Given the description of an element on the screen output the (x, y) to click on. 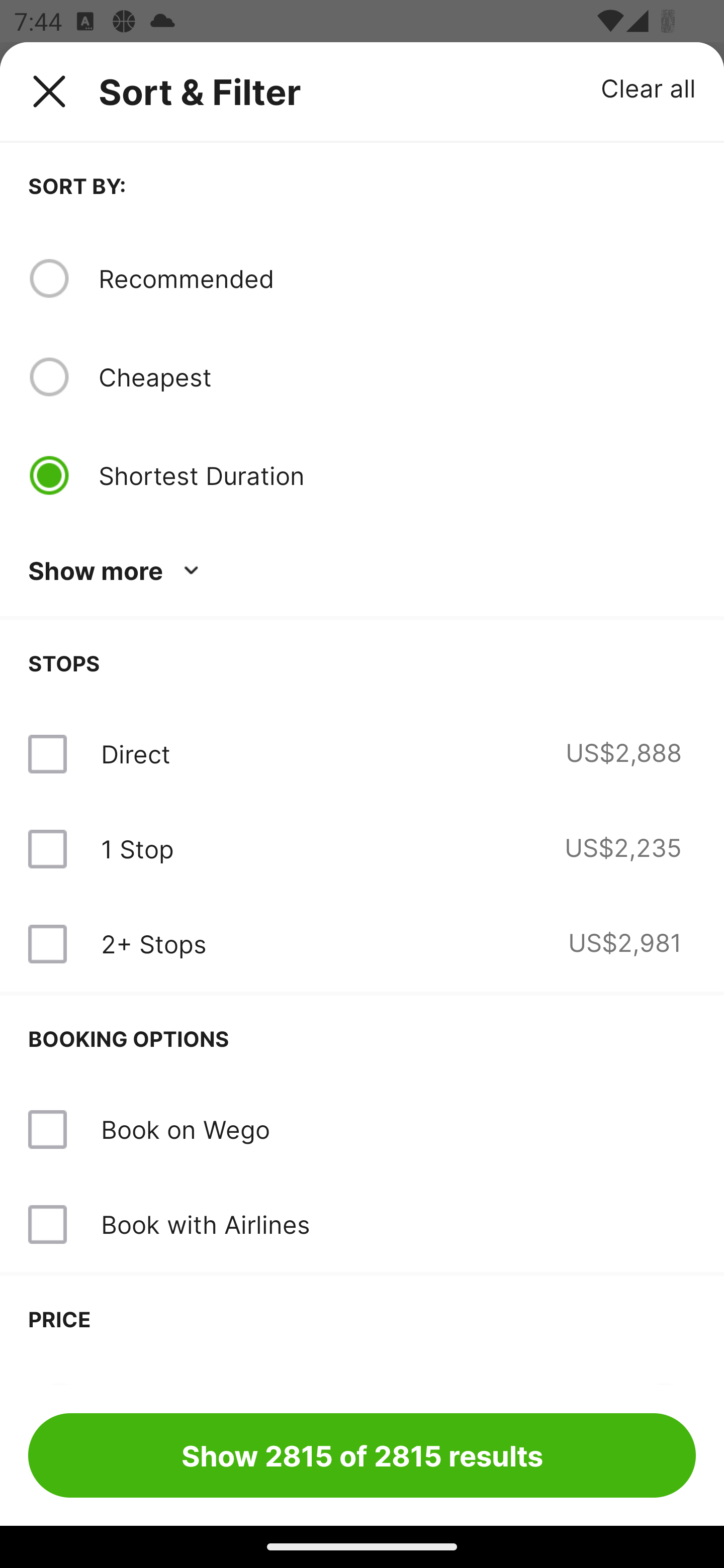
Clear all (648, 87)
Recommended  (396, 278)
Cheapest (396, 377)
Shortest Duration (396, 474)
Show more (116, 570)
Direct US$2,888 (362, 754)
Direct (135, 753)
1 Stop US$2,235 (362, 848)
1 Stop (136, 849)
2+ Stops US$2,981 (362, 943)
2+ Stops (153, 943)
Book on Wego (362, 1129)
Book on Wego (184, 1128)
Book with Airlines (362, 1224)
Book with Airlines (204, 1224)
Show 2815 of 2815 results (361, 1454)
